Given the description of an element on the screen output the (x, y) to click on. 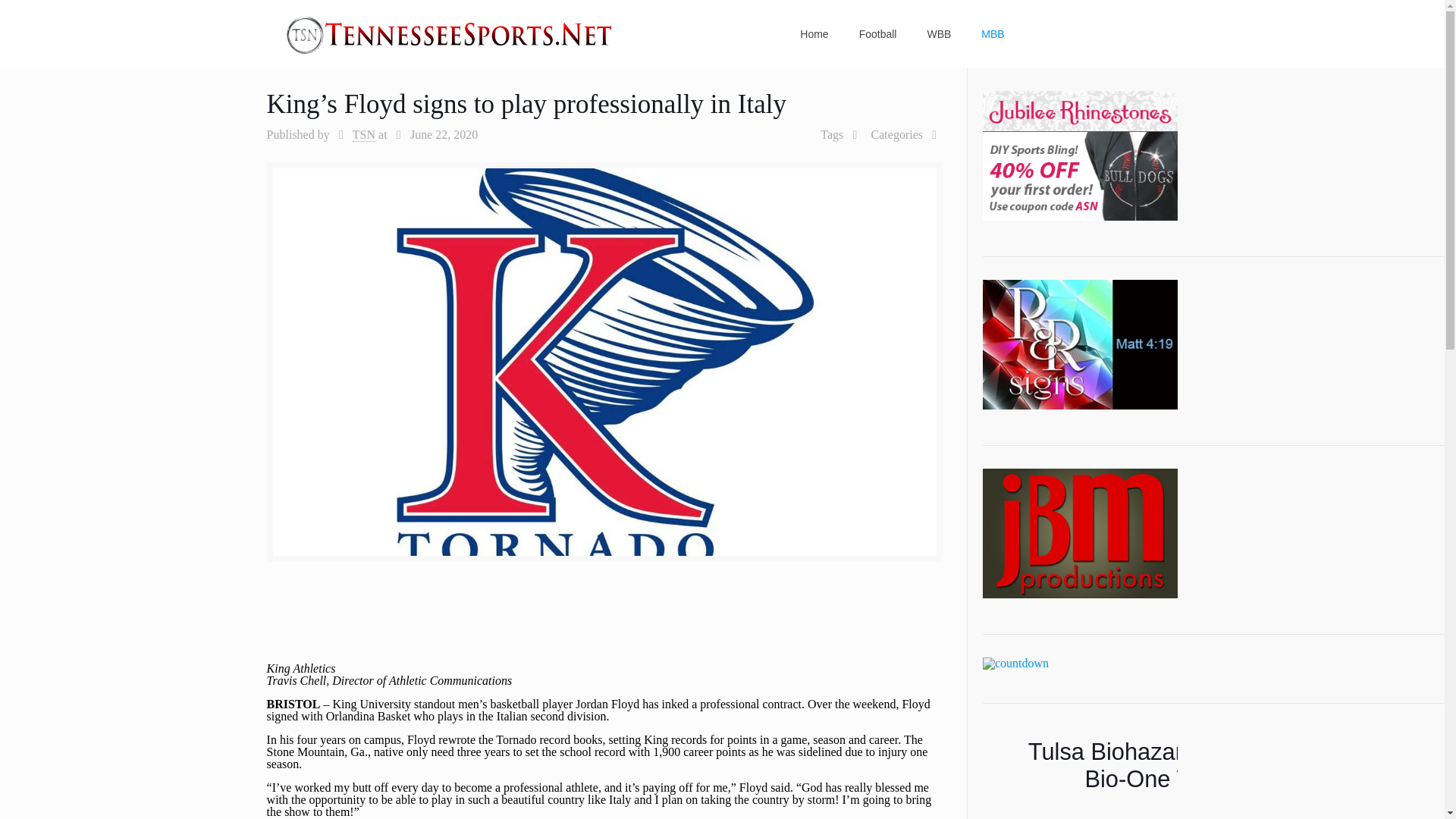
Advertisement (603, 625)
Tennessee Sports (449, 33)
FCA (1015, 663)
Jubilee (1079, 155)
JBM Productions (1079, 533)
